Given the description of an element on the screen output the (x, y) to click on. 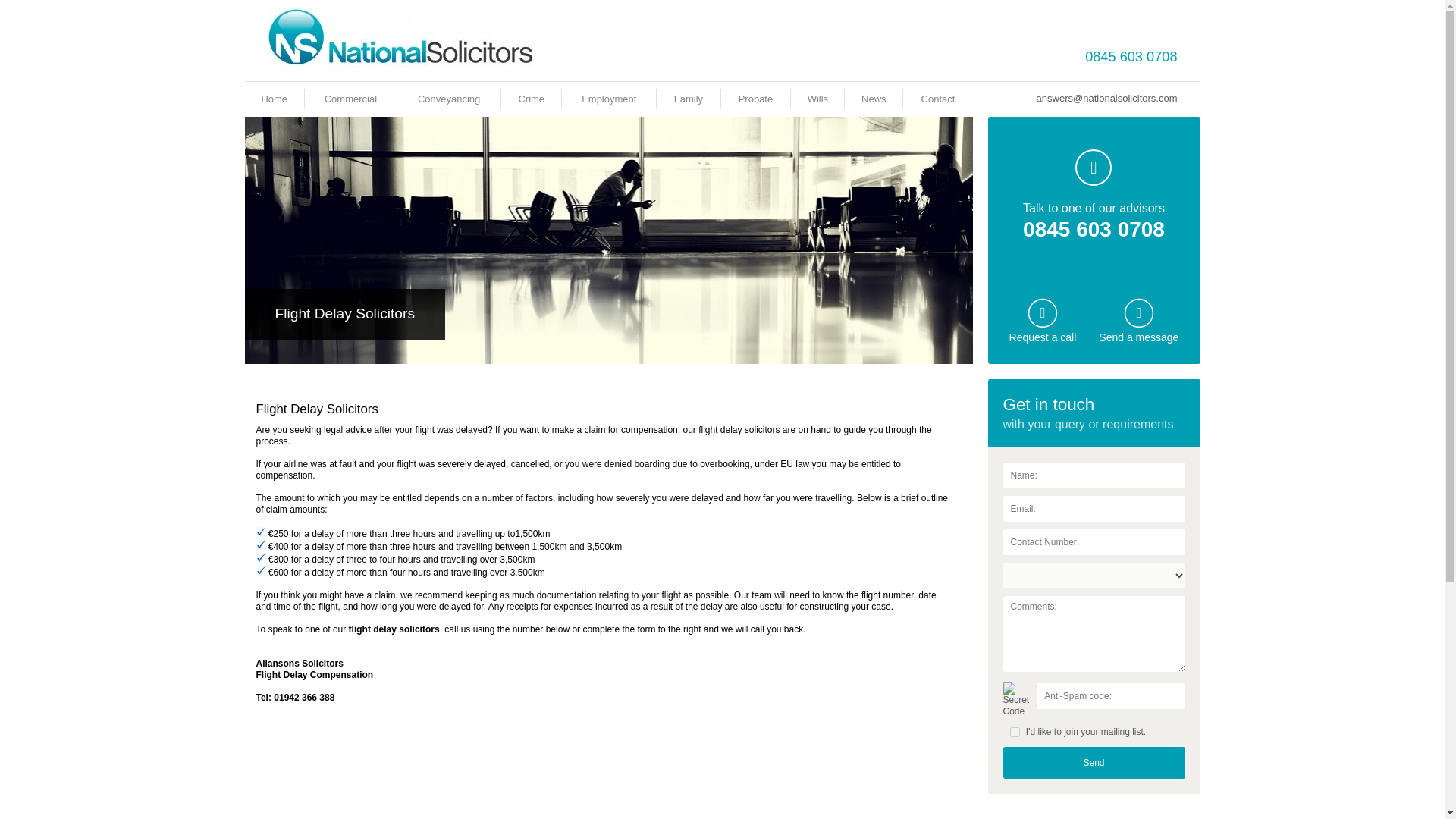
Probate (755, 98)
Crime (531, 98)
Send (1094, 762)
Home (273, 98)
Request a call (1043, 337)
0845 603 0708 (1093, 228)
News (873, 98)
Commercial (350, 98)
0845 603 0708 (1130, 56)
Wills (818, 98)
Conveyancing (448, 98)
Send (1094, 762)
Contact (938, 98)
1 (1015, 732)
Employment (608, 98)
